Given the description of an element on the screen output the (x, y) to click on. 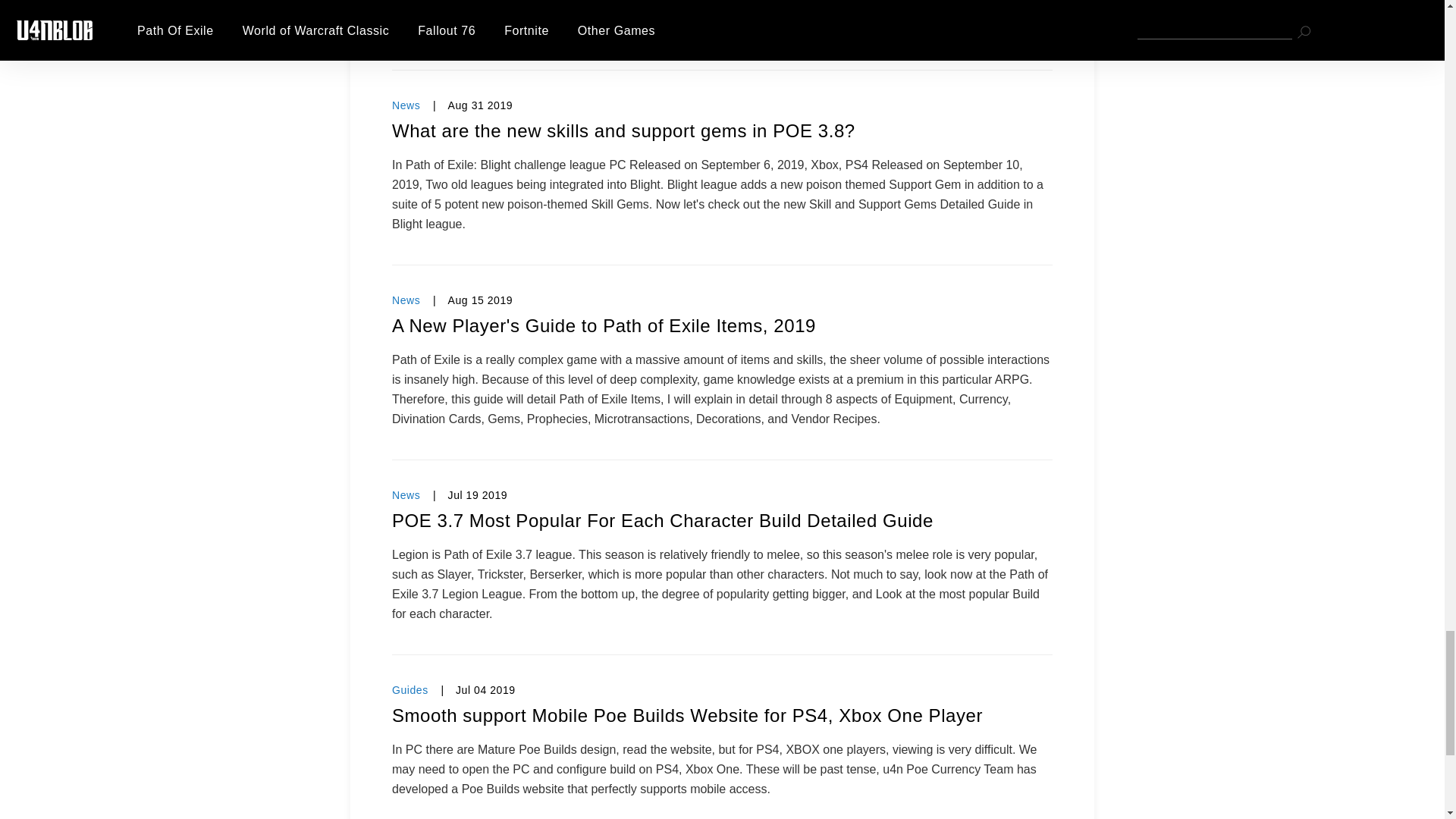
What are the new skills and support gems in POE 3.8? (721, 130)
News (405, 300)
News (405, 494)
A New Player's Guide to Path of Exile Items, 2019 (721, 325)
POE 3.7 Most Popular For Each Character Build Detailed Guide (721, 520)
News (405, 105)
Guides (409, 689)
